Given the description of an element on the screen output the (x, y) to click on. 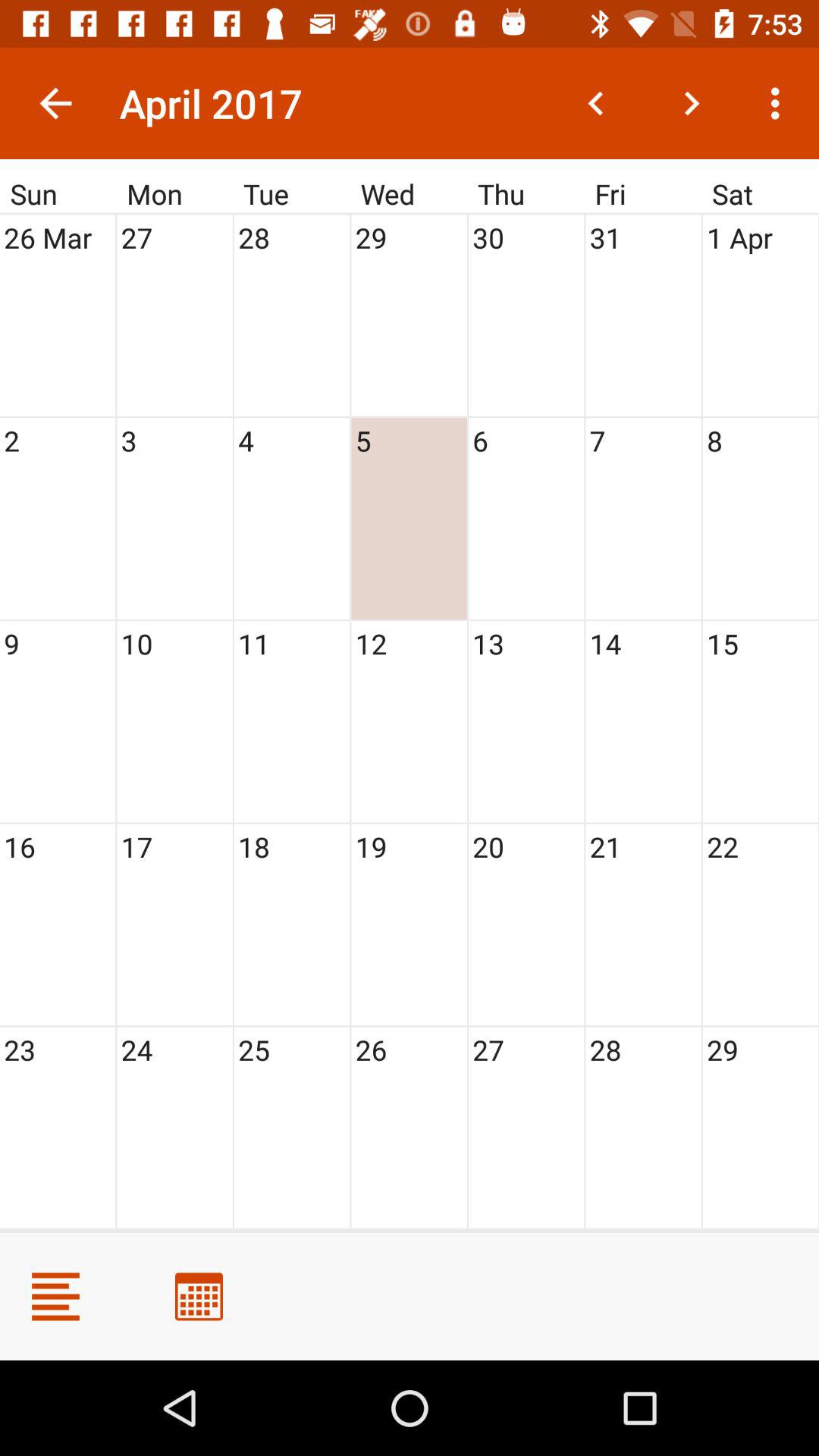
open calendar (198, 1296)
